Given the description of an element on the screen output the (x, y) to click on. 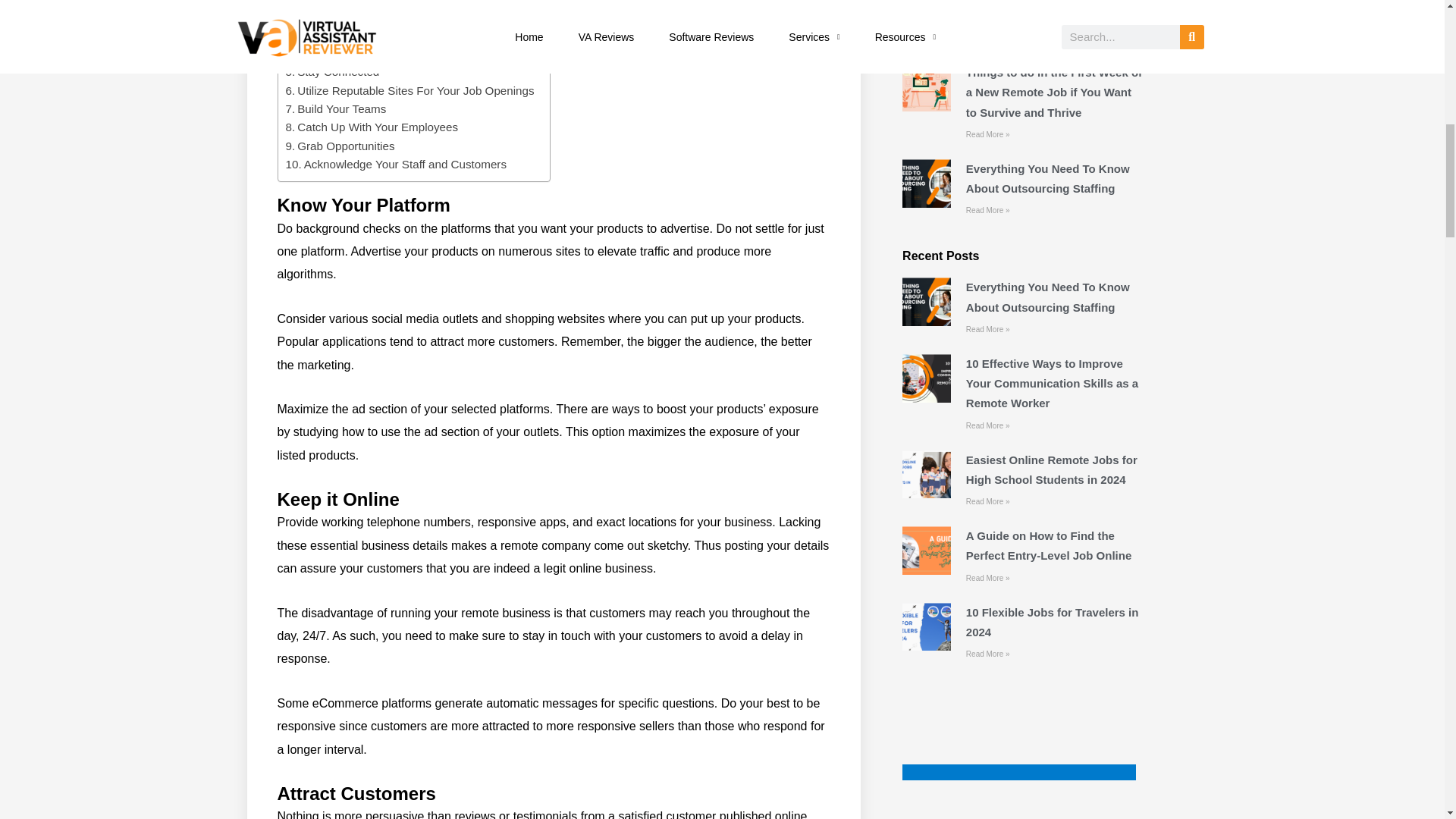
Build Your Teams (335, 108)
Know Your Platform (341, 3)
Utilize Reputable Sites For Your Job Openings (409, 90)
Stay Connected (331, 72)
Grab Opportunities (339, 146)
Attract Customers (336, 35)
Keep it Online (327, 16)
Catch Up With Your Employees (371, 126)
Register Your Online Business (368, 54)
Acknowledge Your Staff and Customers (395, 164)
